Given the description of an element on the screen output the (x, y) to click on. 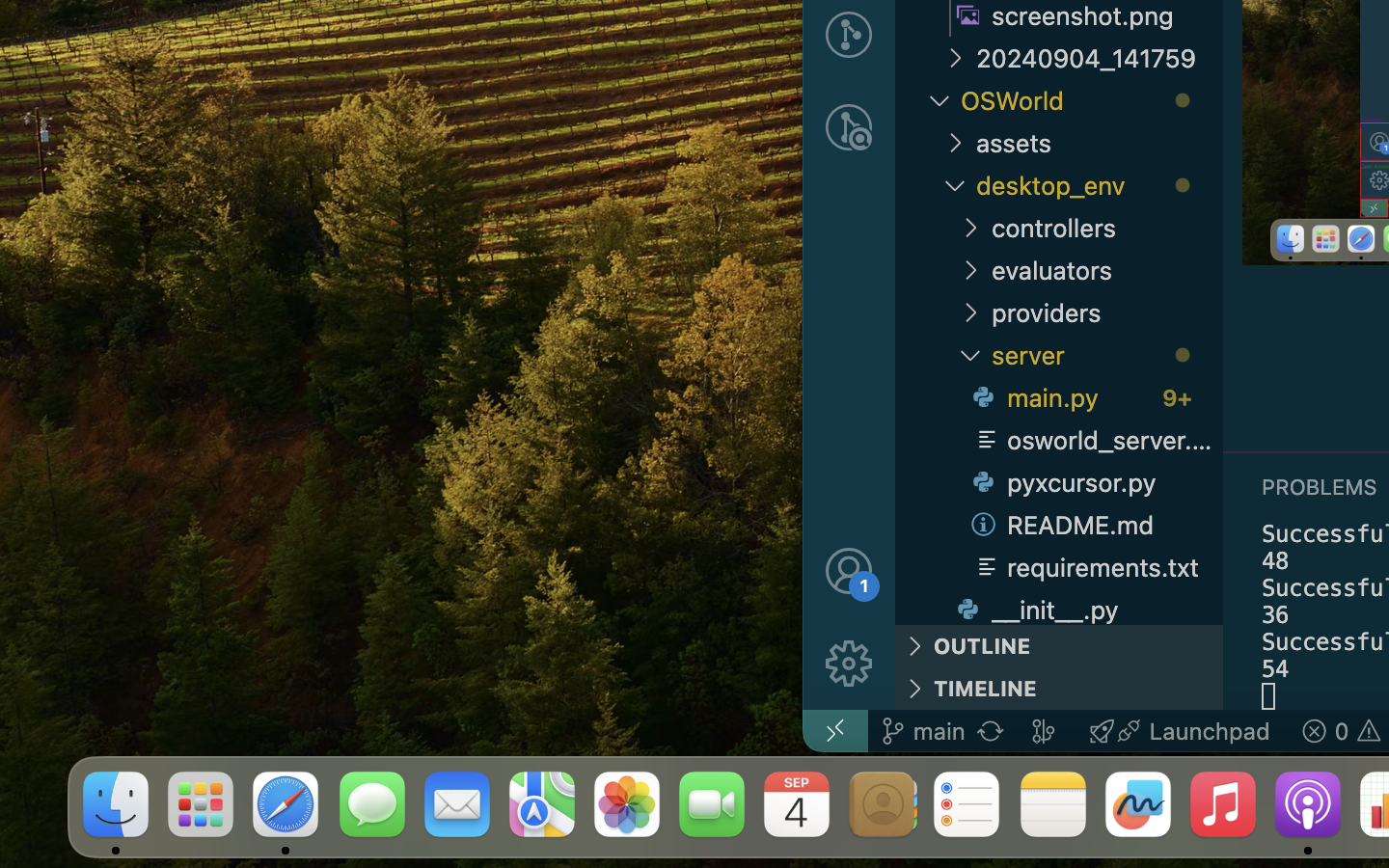
 Element type: AXGroup (848, 127)
Launchpad   Element type: AXButton (1179, 730)
assets Element type: AXGroup (1099, 142)
OUTLINE  Element type: AXButton (1059, 645)
main  Element type: AXButton (922, 730)
